Given the description of an element on the screen output the (x, y) to click on. 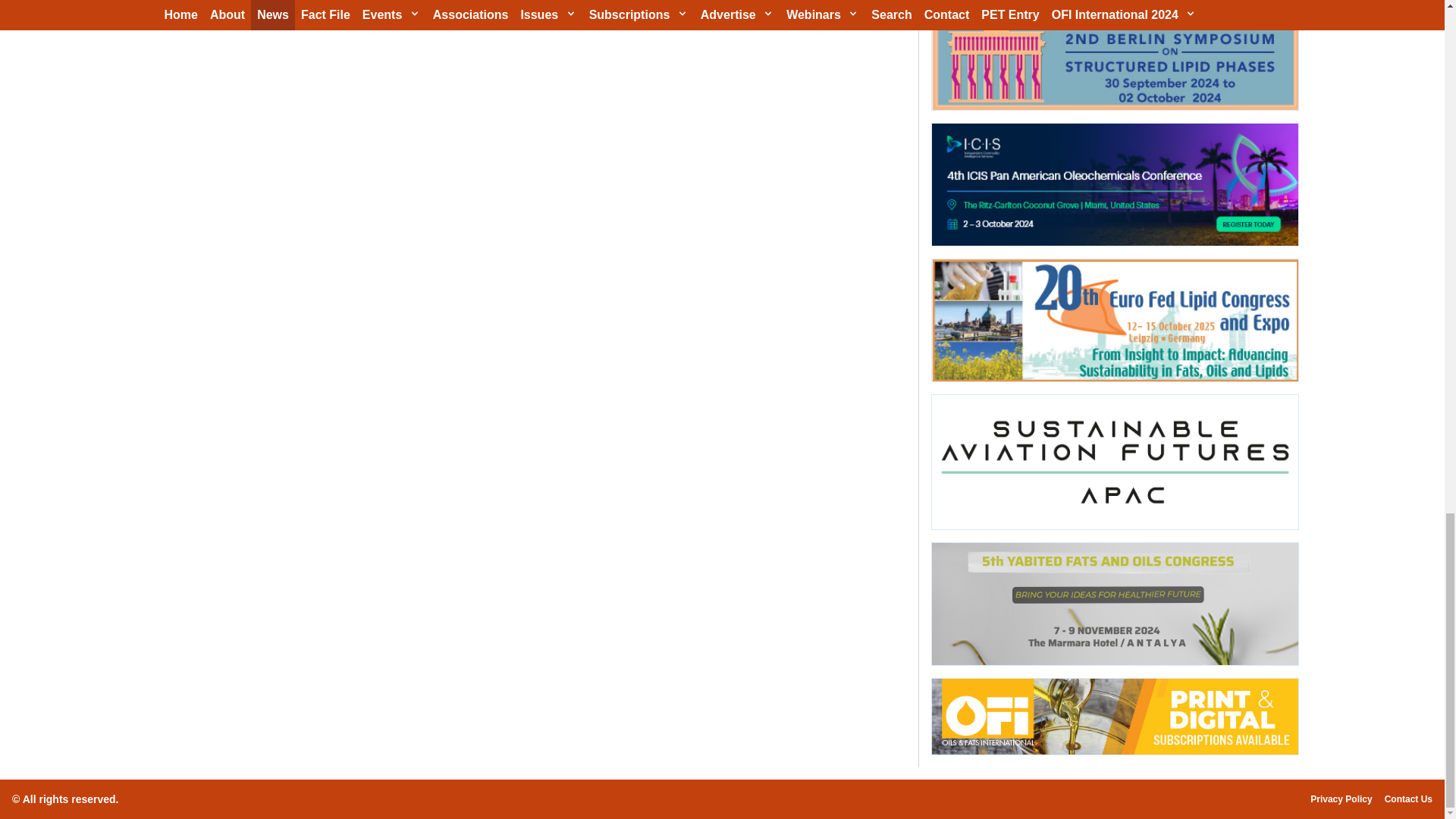
ICIS Pan American Oleochemicals Conference (1114, 184)
Euro Fed Lipid 2025 (1114, 320)
2nd Berlin Symposium 2024 (1114, 54)
OFI Subs (1114, 716)
Yabited (1114, 603)
Sustainable Aviation Futures APAC Congress (1114, 461)
